Given the description of an element on the screen output the (x, y) to click on. 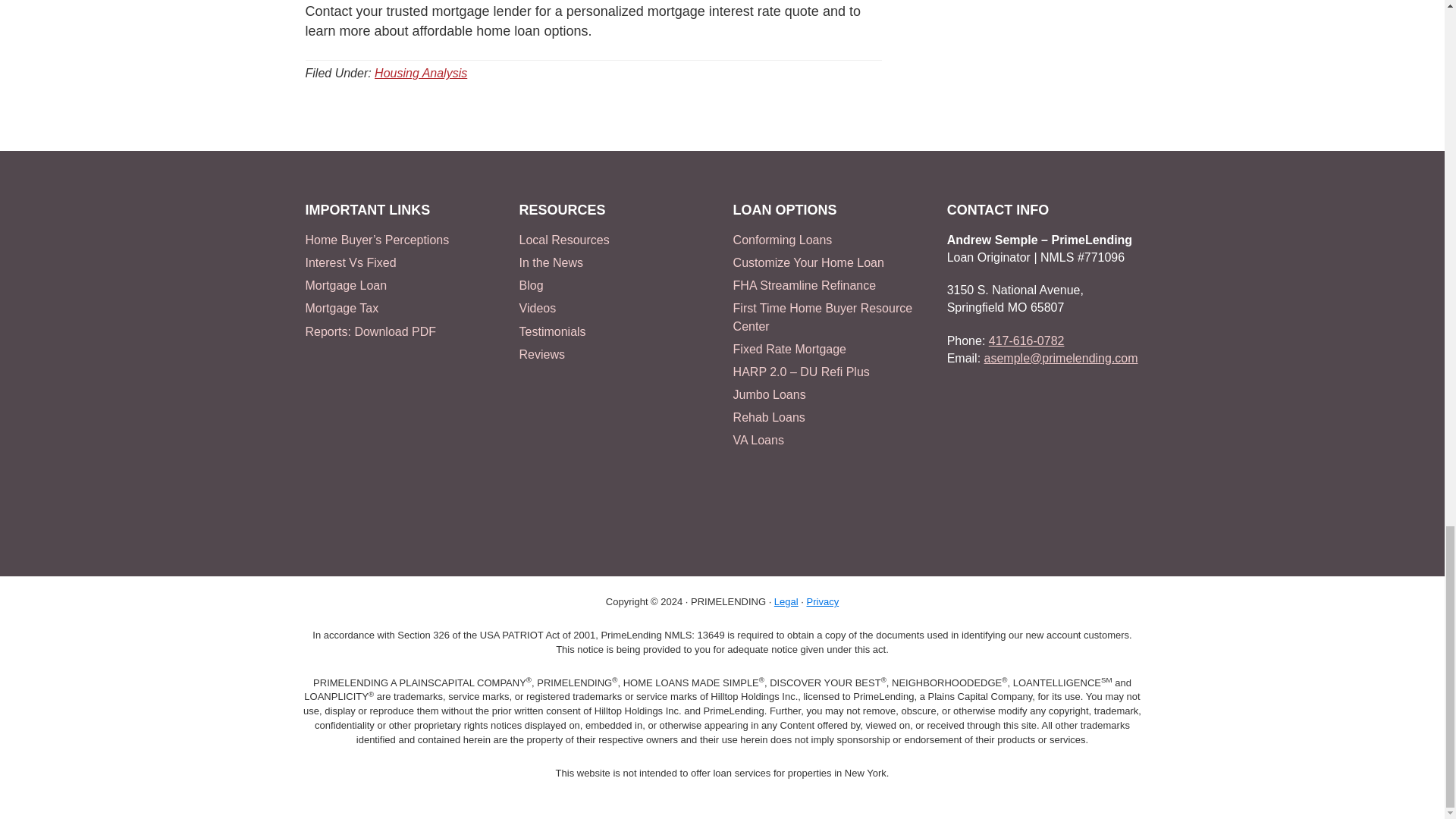
Mortgage Tax (341, 308)
Reports: Download PDF (369, 331)
Interest Vs Fixed (350, 262)
Mortgage Loan (345, 285)
Housing Analysis (420, 72)
Local Resources (564, 239)
